Given the description of an element on the screen output the (x, y) to click on. 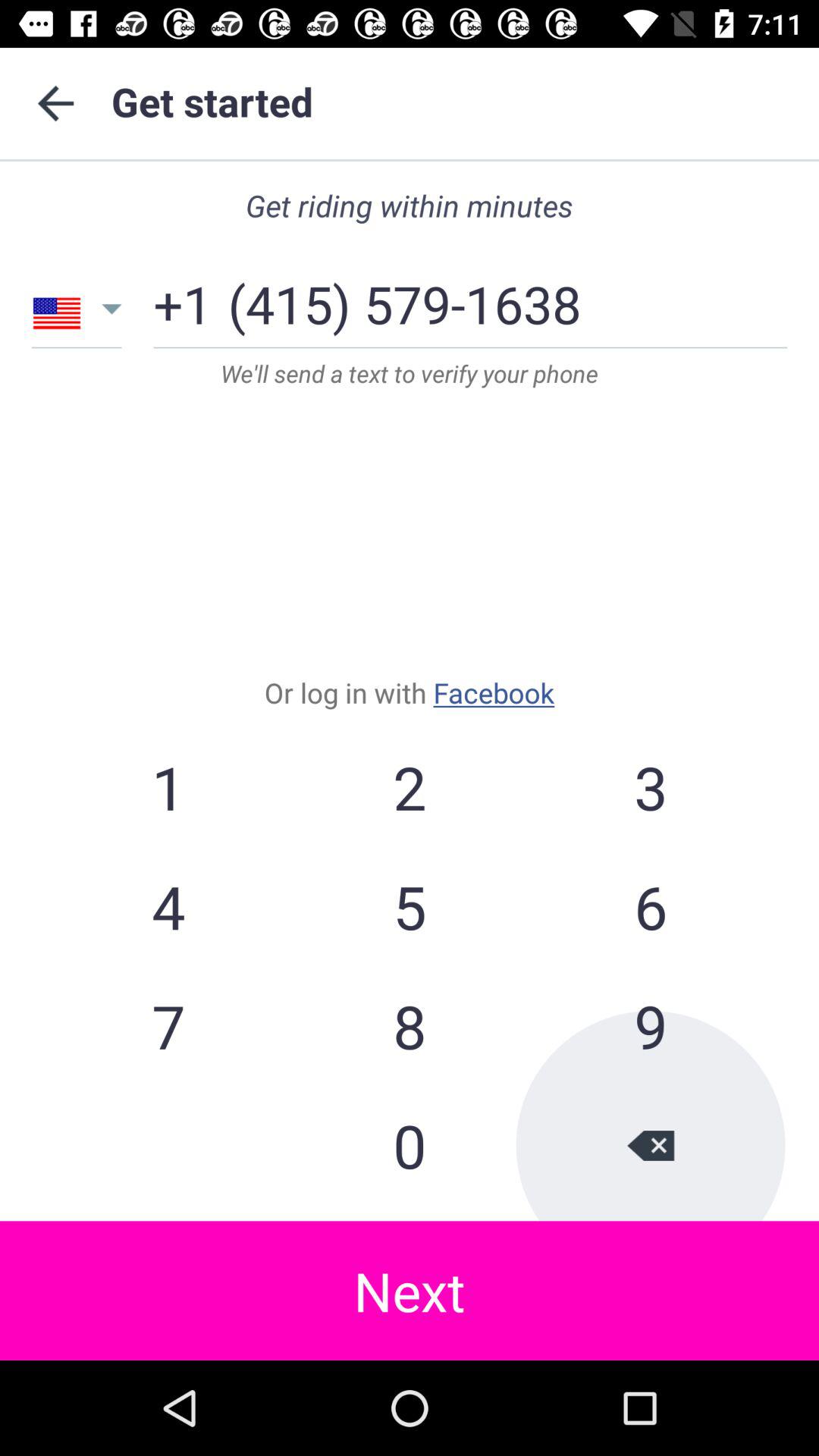
turn off the 0 icon (409, 1145)
